Given the description of an element on the screen output the (x, y) to click on. 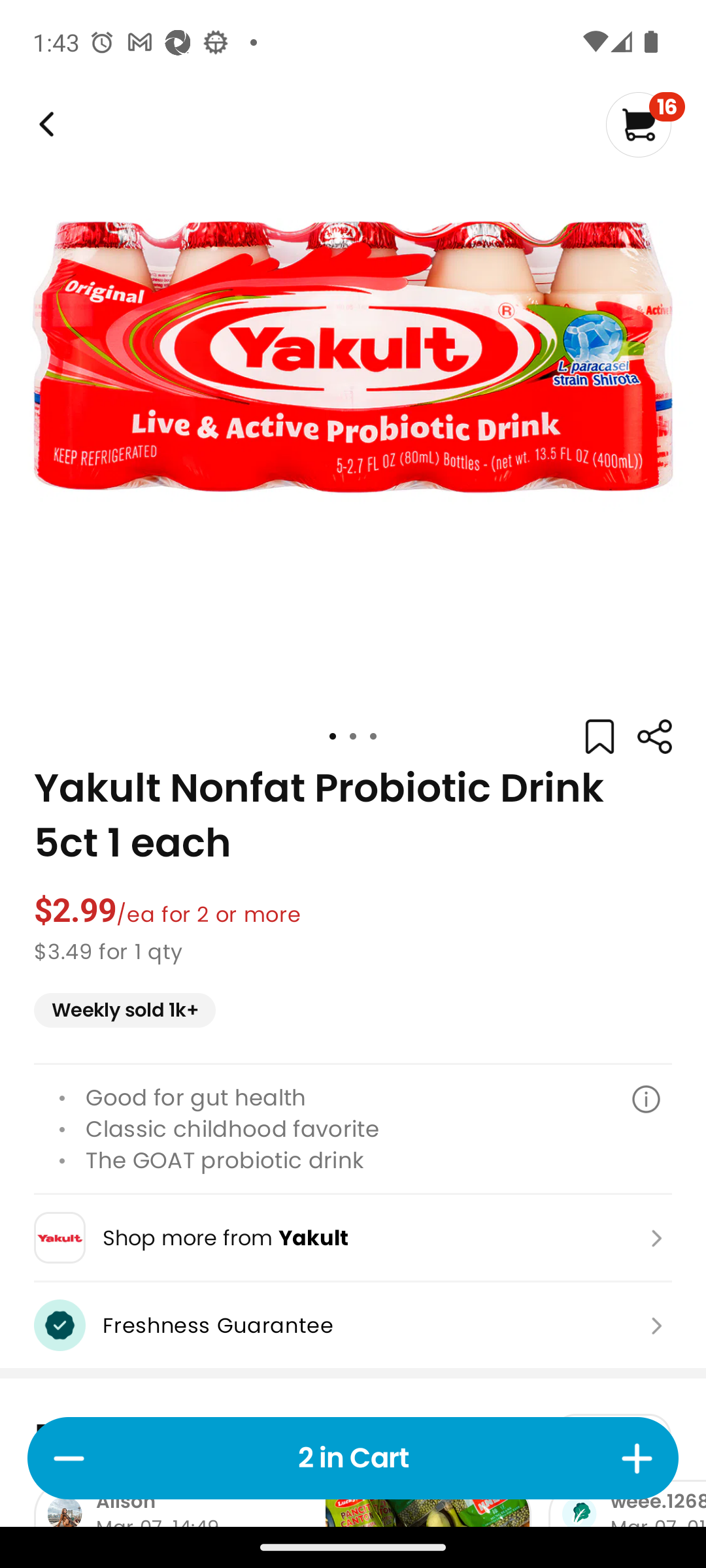
16 (644, 124)
Weee! (45, 124)
Weee! (653, 736)
Shop more from Yakult Weee! (352, 1237)
Freshness Guarantee (352, 1324)
2 in Cart (352, 1458)
2 in Cart (352, 1458)
